Given the description of an element on the screen output the (x, y) to click on. 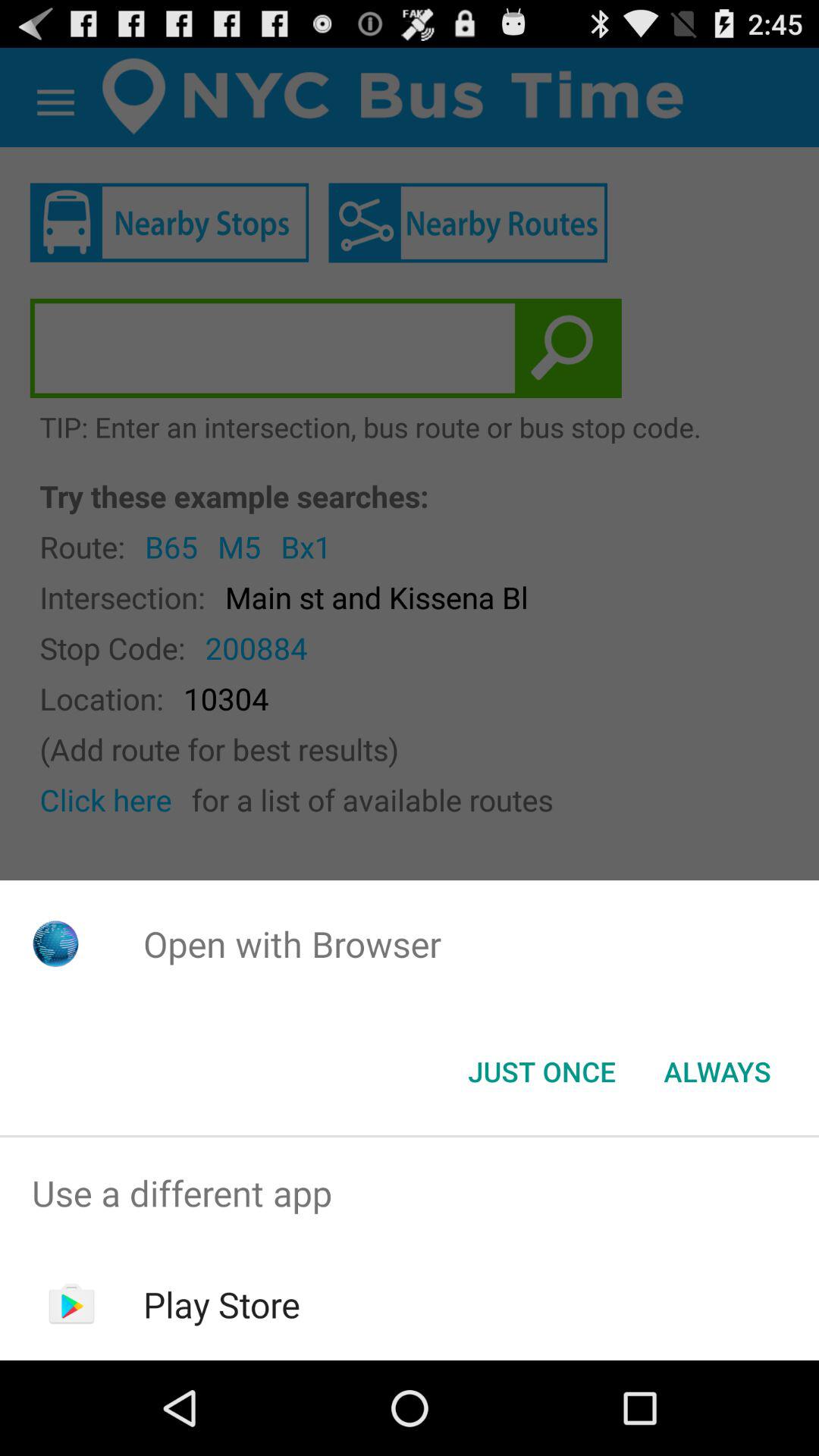
choose the app above play store item (409, 1192)
